Given the description of an element on the screen output the (x, y) to click on. 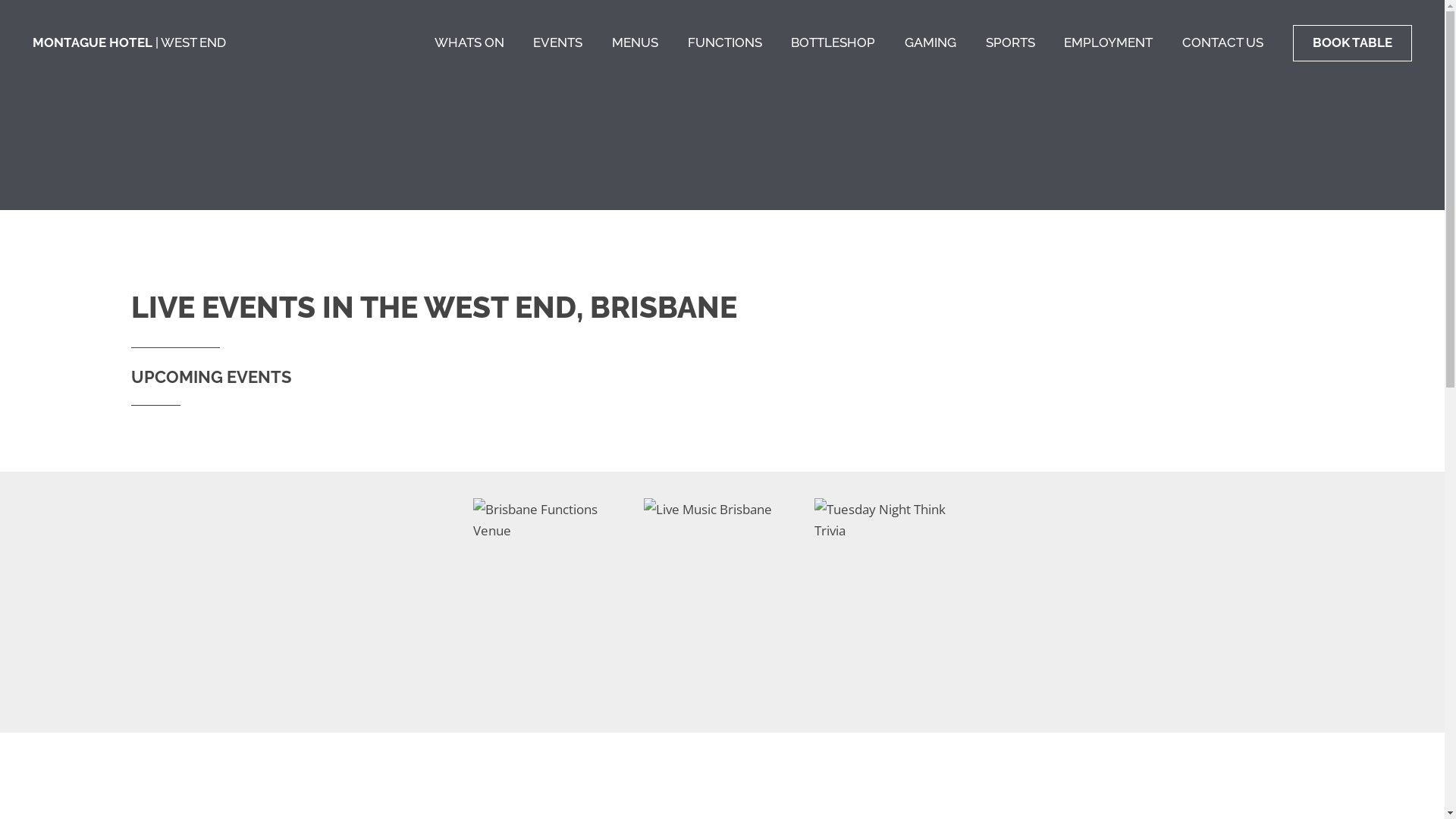
GAMING Element type: text (930, 42)
CONTACT US Element type: text (1222, 42)
MONTAGUE HOTEL | WEST END Element type: text (128, 42)
BOOK TABLE Element type: text (1352, 43)
WHATS ON Element type: text (469, 42)
FUNCTIONS Element type: text (724, 42)
EVENTS Element type: text (557, 42)
BOTTLESHOP Element type: text (832, 42)
SPORTS Element type: text (1010, 42)
MENUS Element type: text (634, 42)
EMPLOYMENT Element type: text (1107, 42)
